Given the description of an element on the screen output the (x, y) to click on. 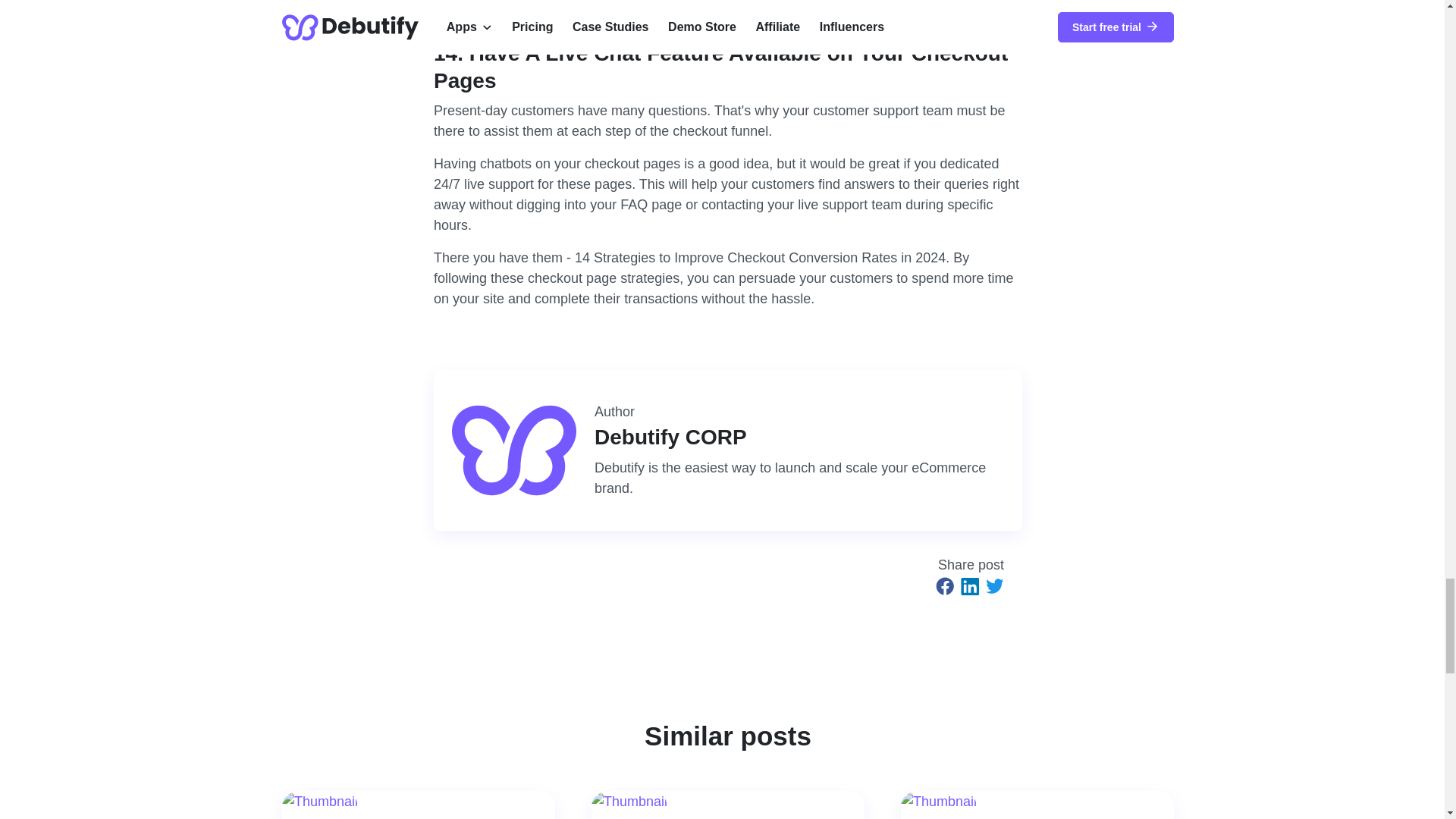
checkout page strategy (887, 0)
